Given the description of an element on the screen output the (x, y) to click on. 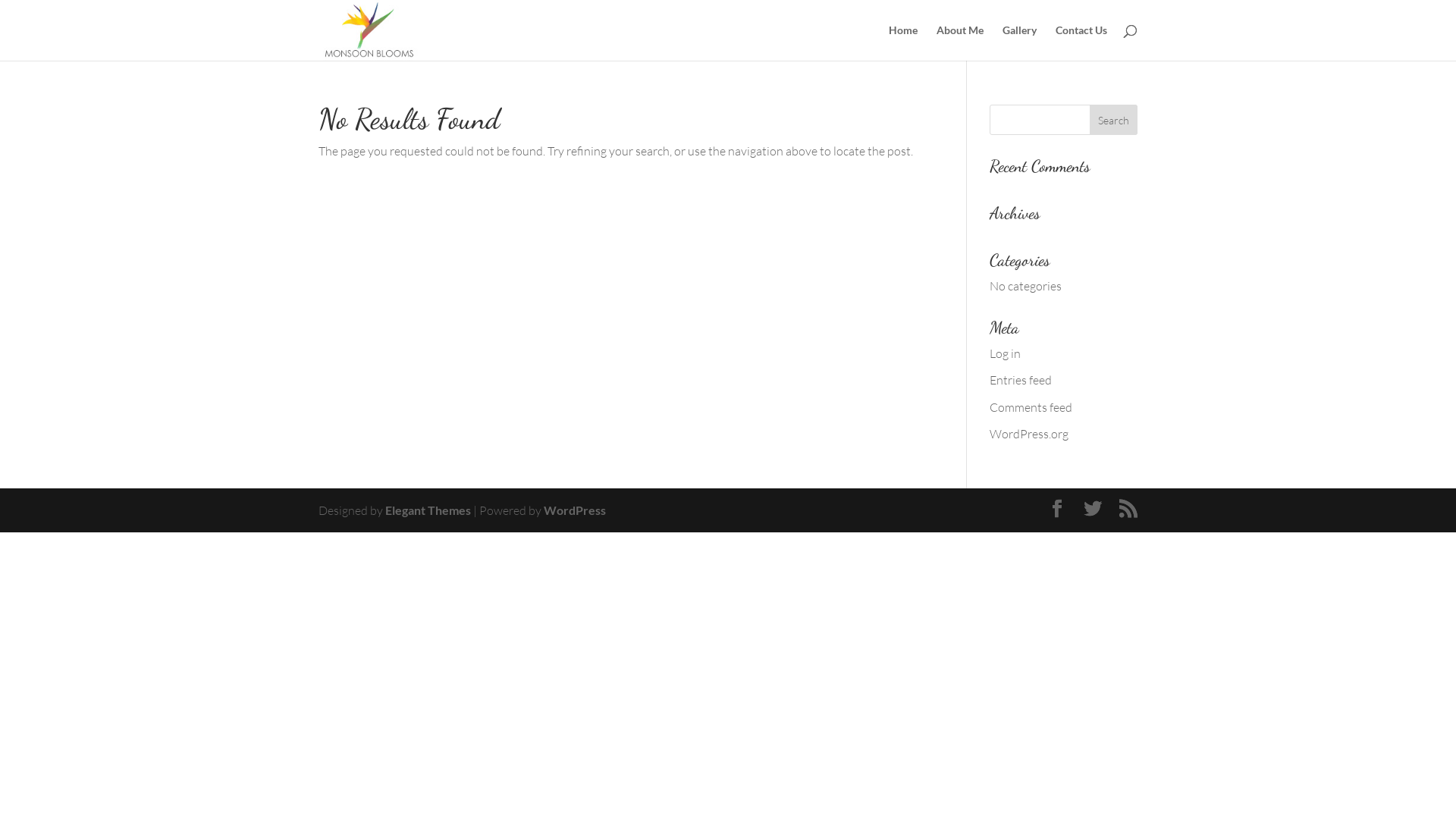
Comments feed Element type: text (1030, 406)
Search Element type: text (1113, 119)
Home Element type: text (902, 42)
About Me Element type: text (959, 42)
Entries feed Element type: text (1020, 379)
Contact Us Element type: text (1081, 42)
Log in Element type: text (1004, 352)
WordPress Element type: text (574, 509)
WordPress.org Element type: text (1028, 433)
Elegant Themes Element type: text (427, 509)
Gallery Element type: text (1019, 42)
